Given the description of an element on the screen output the (x, y) to click on. 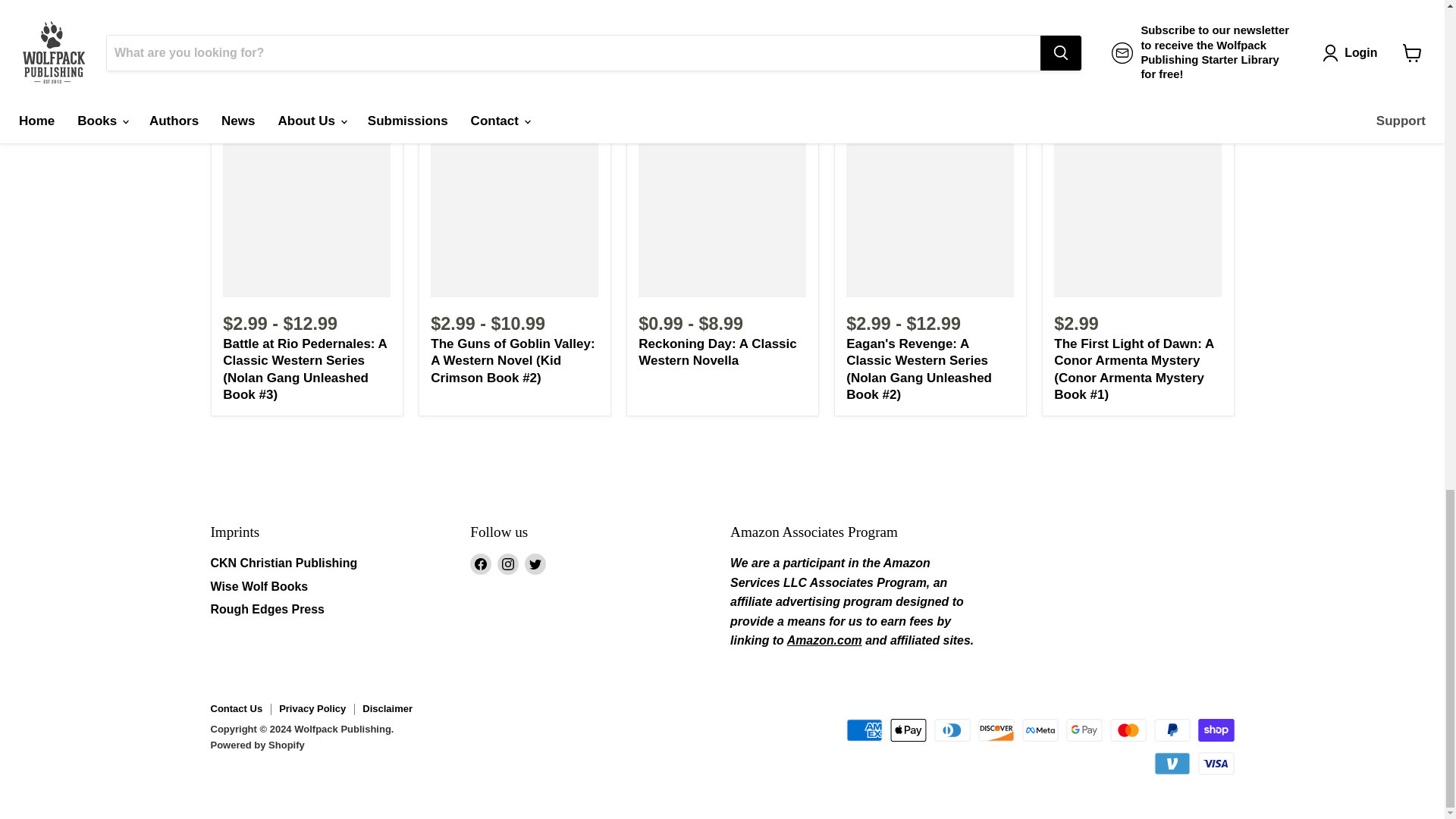
Instagram (507, 563)
Twitter (535, 563)
Discover (996, 730)
Diners Club (952, 730)
Apple Pay (907, 730)
Meta Pay (1040, 730)
Facebook (481, 563)
American Express (863, 730)
